Given the description of an element on the screen output the (x, y) to click on. 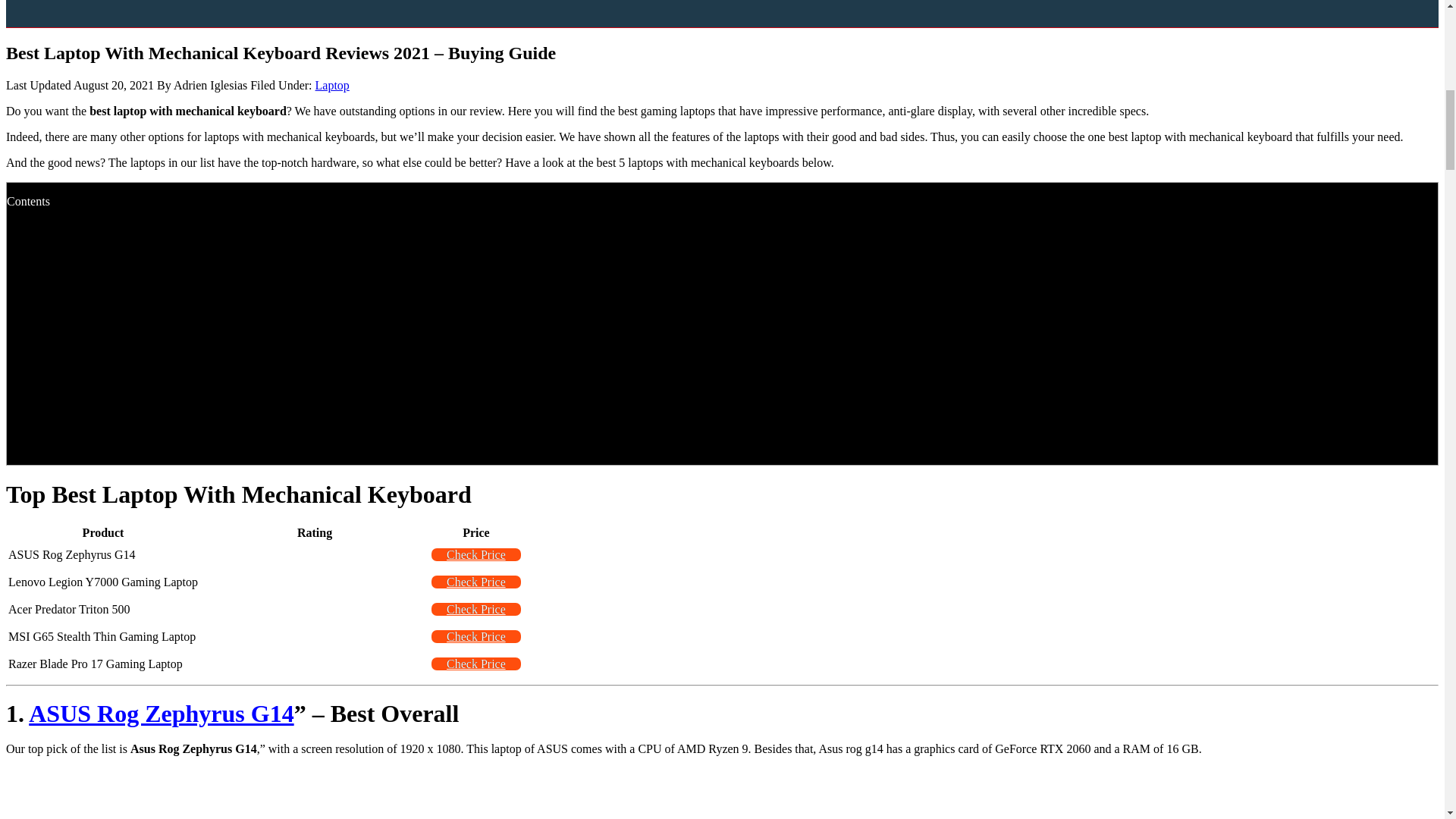
Check Price (475, 635)
Blog (737, 7)
Check Price (475, 608)
Check Price (475, 663)
Check Price (475, 554)
Check Price (475, 581)
Laptop (332, 84)
ASUS Rog Zephyrus G14 (161, 713)
